Given the description of an element on the screen output the (x, y) to click on. 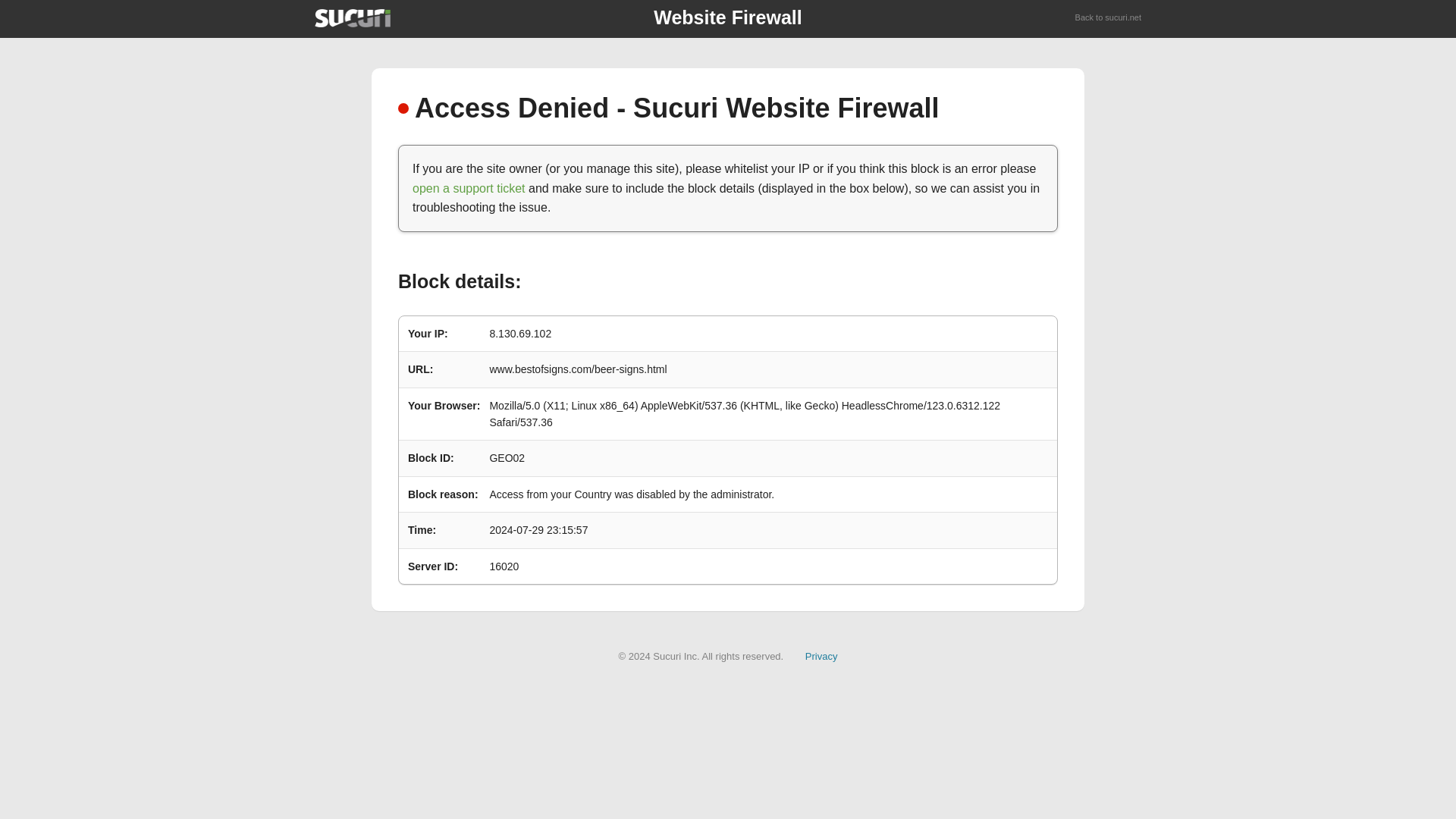
open a support ticket (468, 187)
Back to sucuri.net (1108, 18)
Privacy (821, 655)
